Given the description of an element on the screen output the (x, y) to click on. 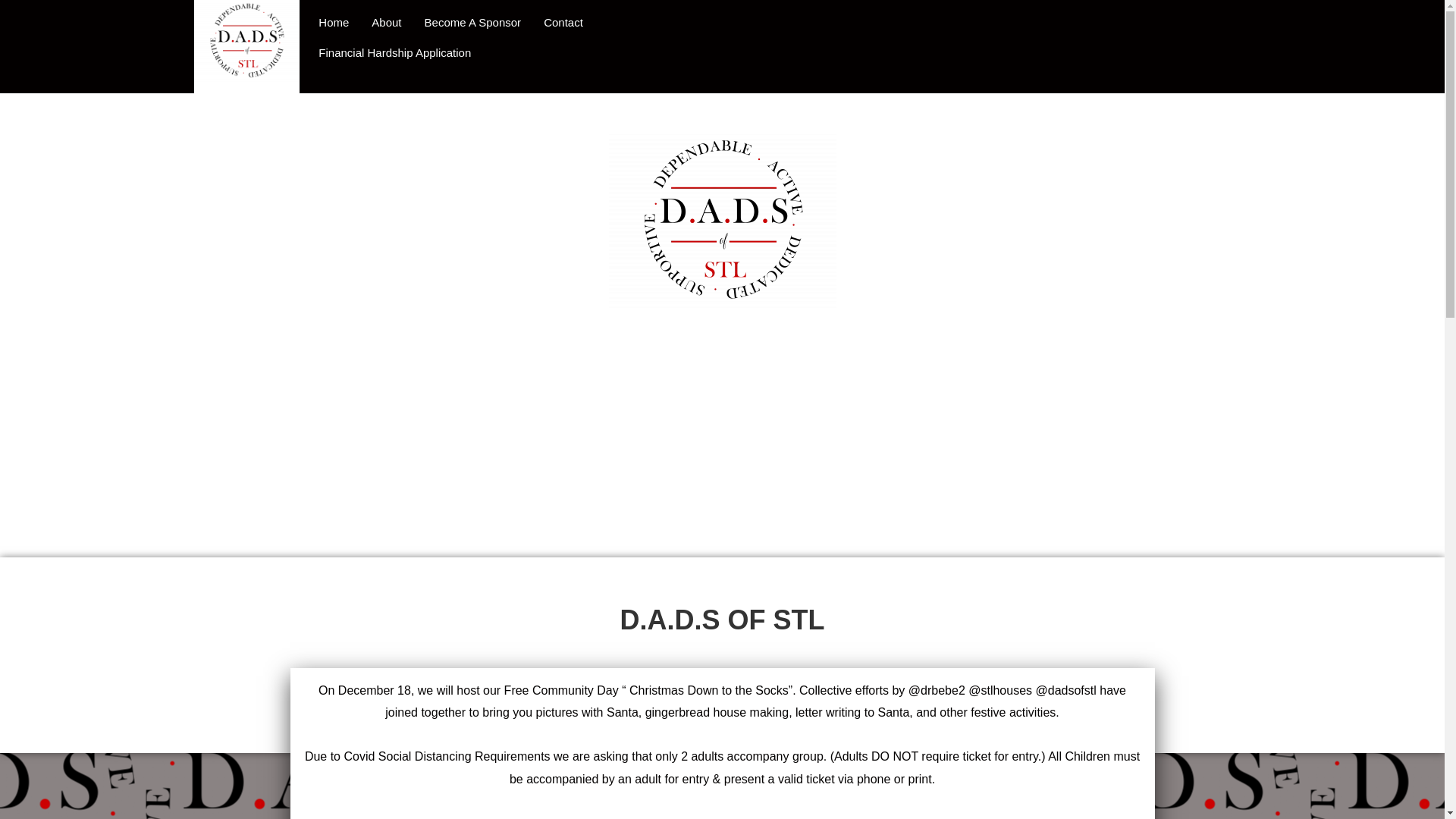
Contact (563, 22)
Home (333, 22)
Financial Hardship Application (394, 52)
Become A Sponsor (472, 22)
About (385, 22)
